Given the description of an element on the screen output the (x, y) to click on. 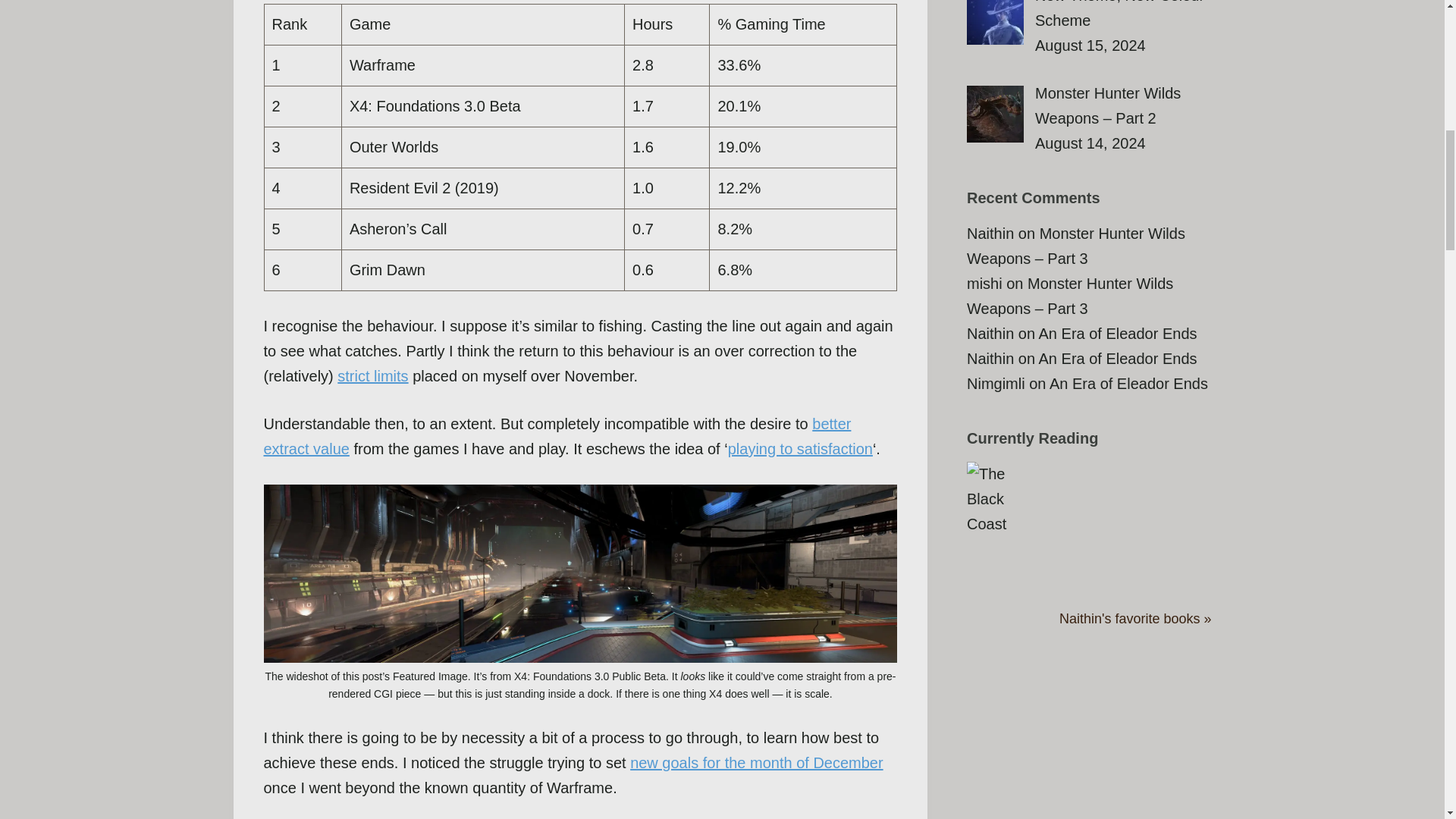
strict limits (372, 375)
better extract value (557, 436)
playing to satisfaction (800, 448)
